Given the description of an element on the screen output the (x, y) to click on. 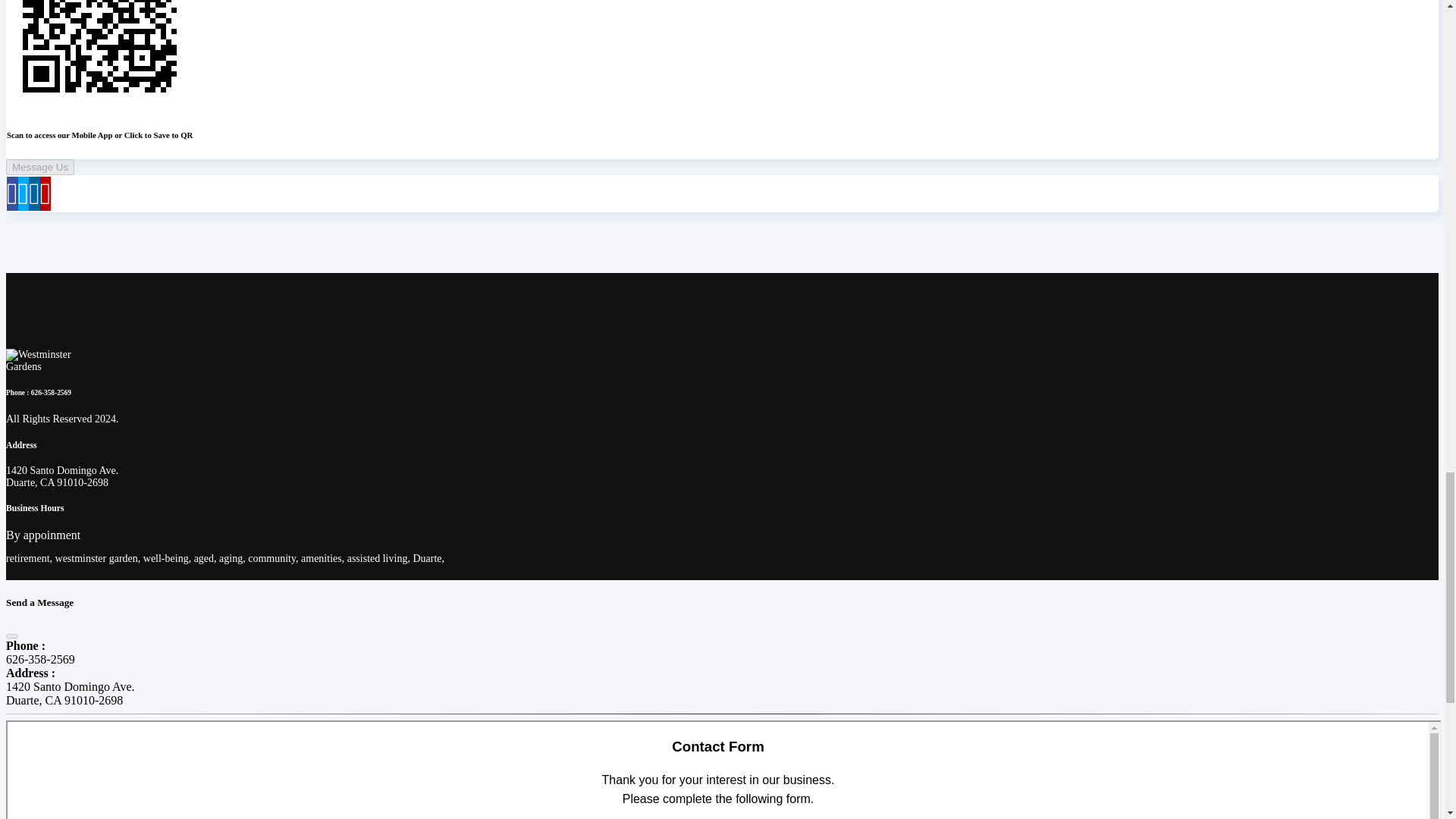
Message Us (39, 166)
